Given the description of an element on the screen output the (x, y) to click on. 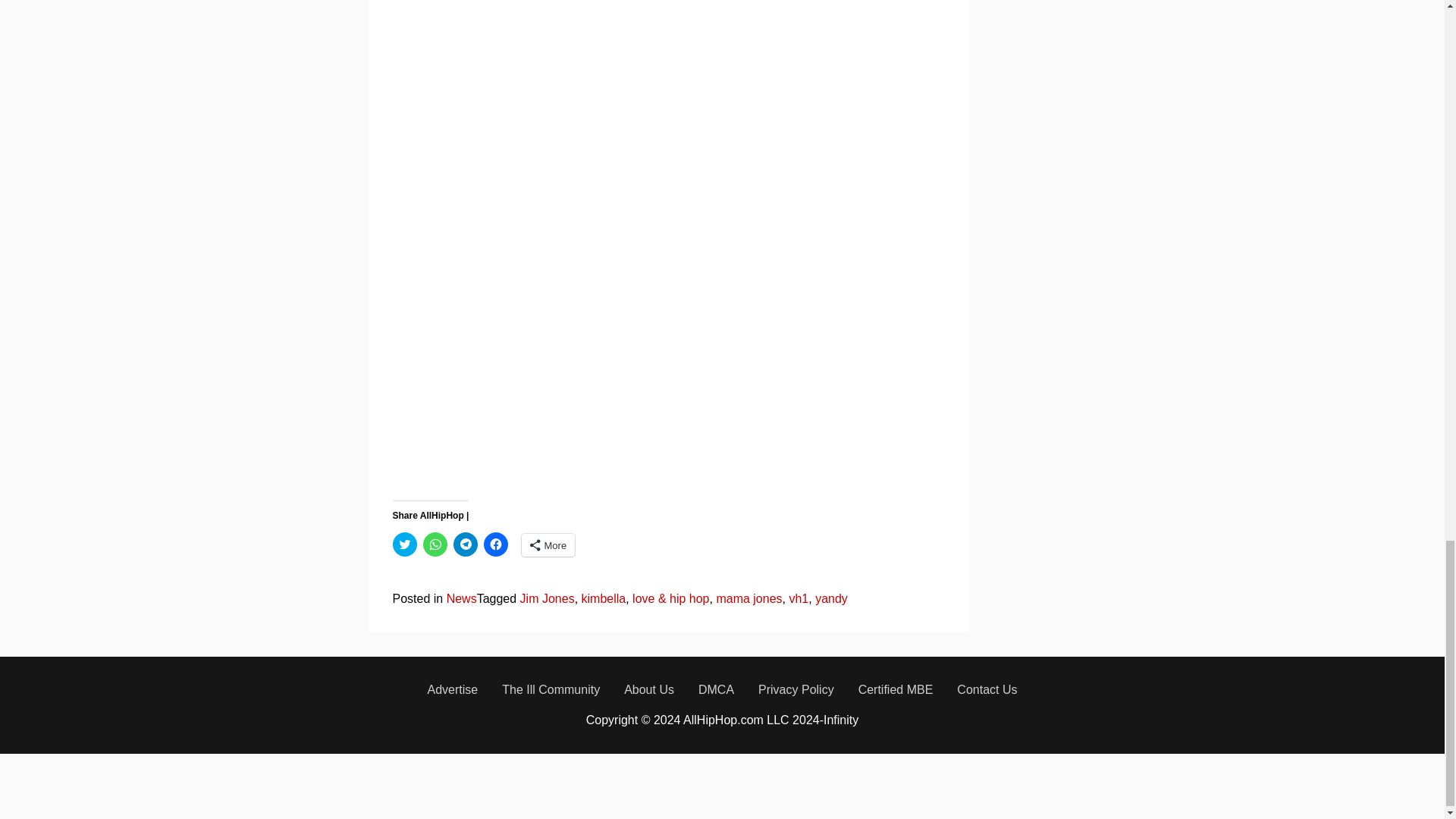
YouTube player (631, 360)
Click to share on WhatsApp (434, 544)
Click to share on Twitter (404, 544)
Click to share on Facebook (495, 544)
Click to share on Telegram (464, 544)
YouTube player (631, 110)
